Given the description of an element on the screen output the (x, y) to click on. 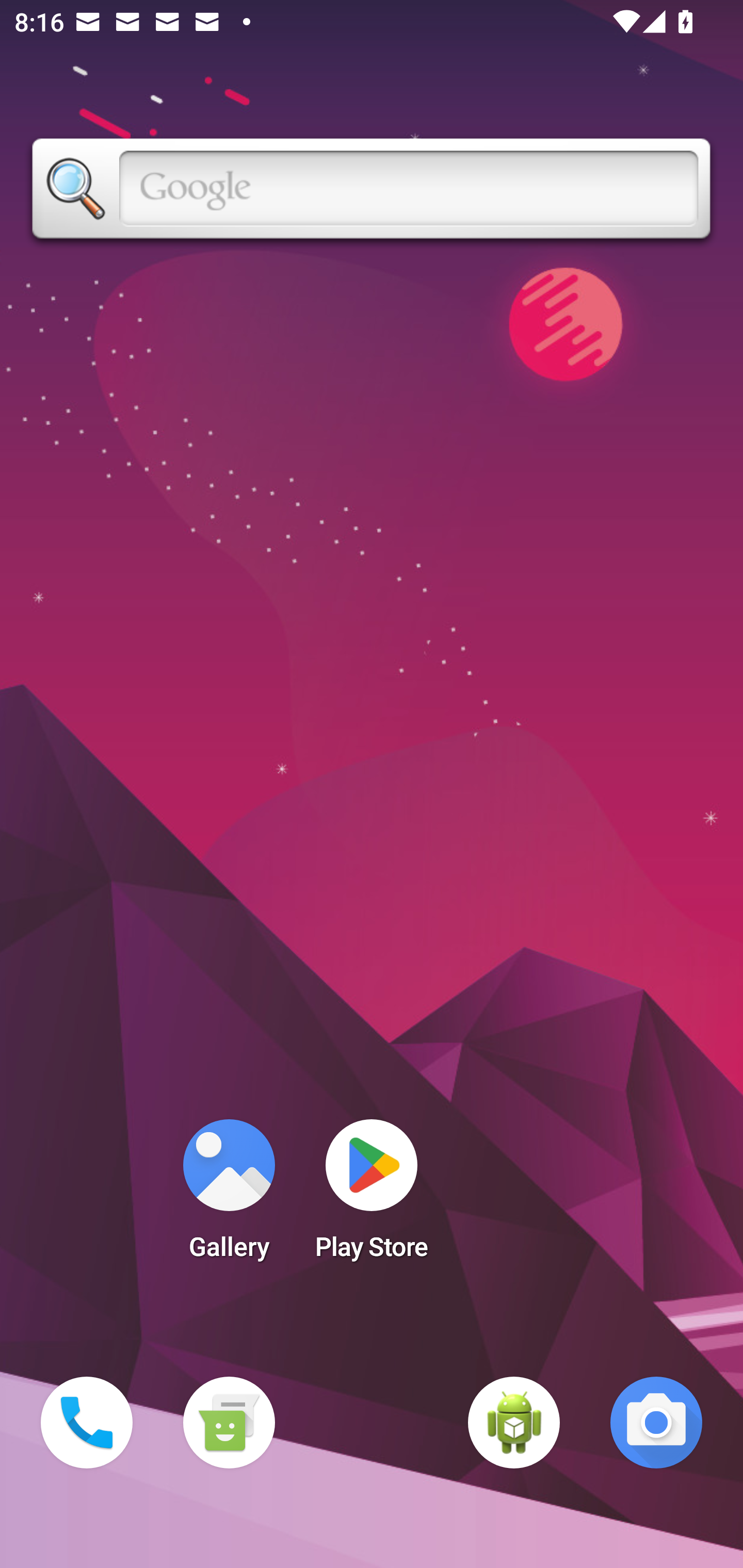
Gallery (228, 1195)
Play Store (371, 1195)
Phone (86, 1422)
Messaging (228, 1422)
WebView Browser Tester (513, 1422)
Camera (656, 1422)
